Given the description of an element on the screen output the (x, y) to click on. 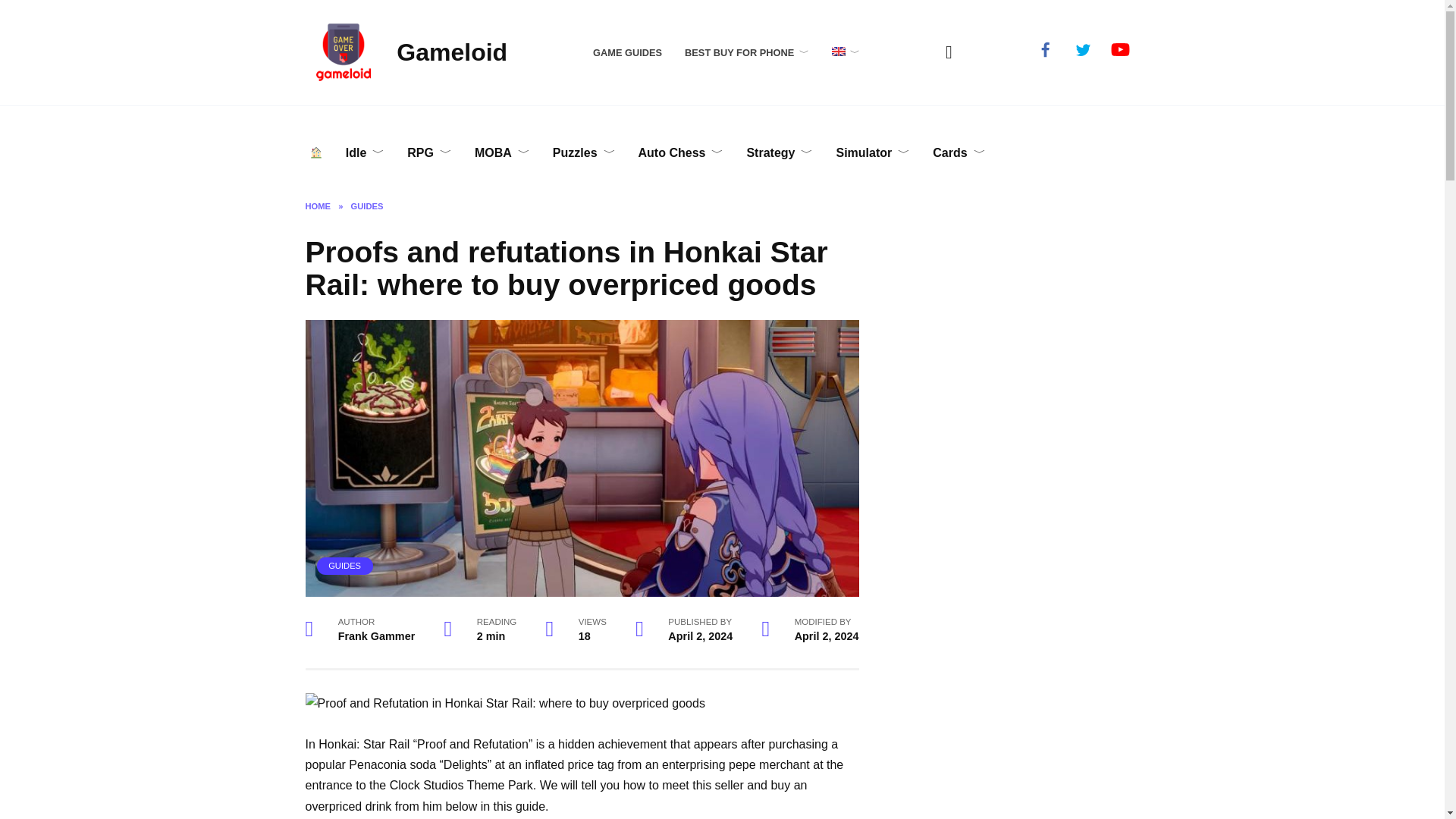
MOBA (502, 152)
BEST BUY FOR PHONE (746, 52)
GAME GUIDES (627, 52)
Idle (365, 152)
Auto Chess (681, 152)
RPG (429, 152)
Strategy (779, 152)
Gameloid (451, 52)
Puzzles (584, 152)
